Given the description of an element on the screen output the (x, y) to click on. 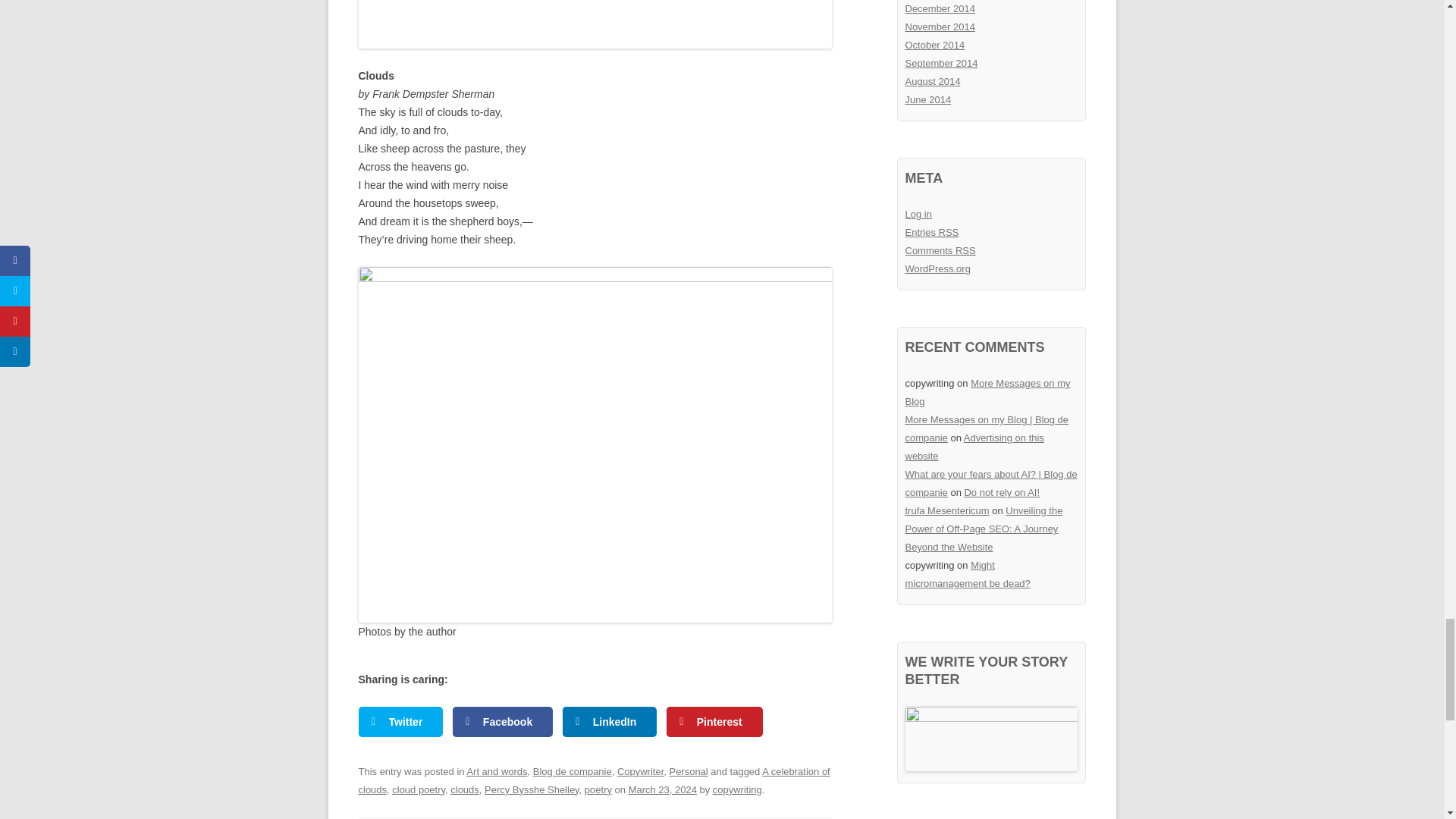
poetry (598, 789)
Pinterest (714, 721)
LinkedIn (610, 721)
Blog de companie (571, 771)
Art and words (496, 771)
Really Simple Syndication (949, 232)
Percy Bysshe Shelley (531, 789)
Copywriter (640, 771)
Personal (687, 771)
A celebration of clouds (593, 780)
8:11 am (662, 789)
Facebook (502, 721)
March 23, 2024 (662, 789)
Twitter (400, 721)
cloud poetry (418, 789)
